Given the description of an element on the screen output the (x, y) to click on. 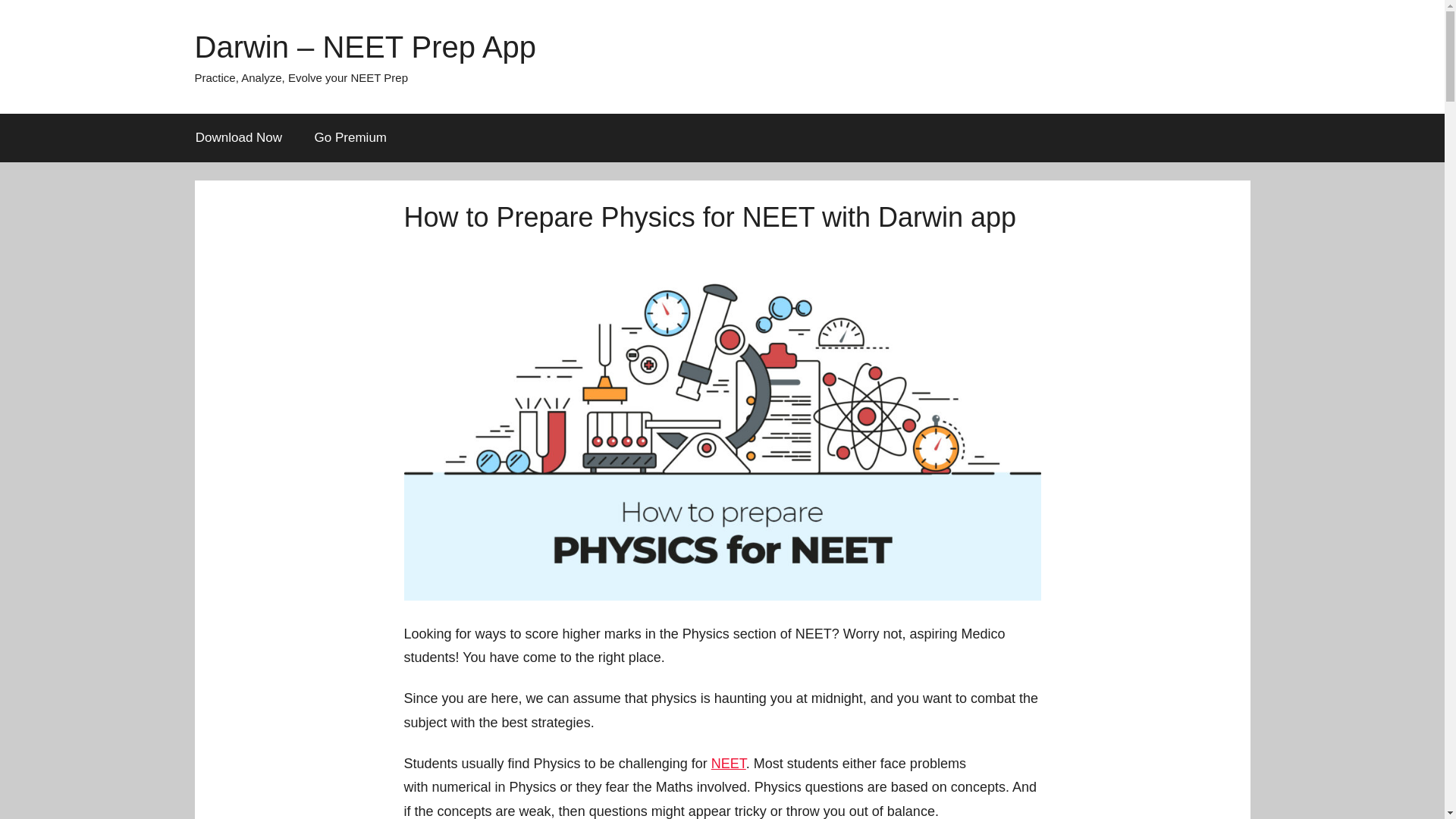
Download Now (238, 137)
Go Premium (350, 137)
NEET (728, 763)
